Given the description of an element on the screen output the (x, y) to click on. 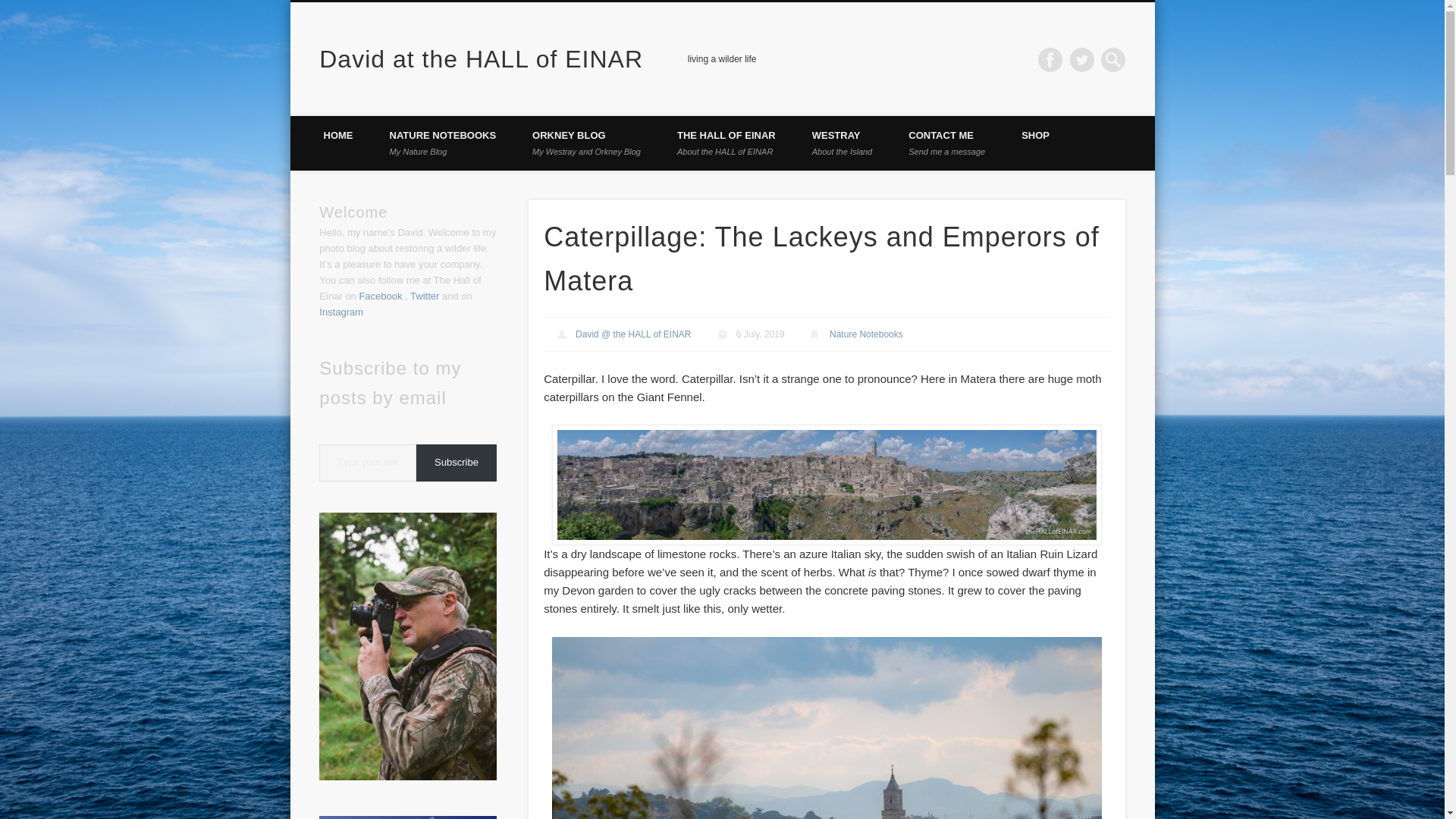
HOME (337, 143)
Instagram (340, 311)
Twitter (424, 296)
Facebook (381, 296)
Twitter (1082, 59)
Top 10 reasons you shouldn't visit Westray (407, 817)
David at the HALL of EINAR (726, 143)
Nature Notebooks (480, 58)
Subscribe (865, 334)
Search (456, 462)
Facebook (11, 7)
Please fill in this field. (1050, 59)
SHOP (946, 143)
